Given the description of an element on the screen output the (x, y) to click on. 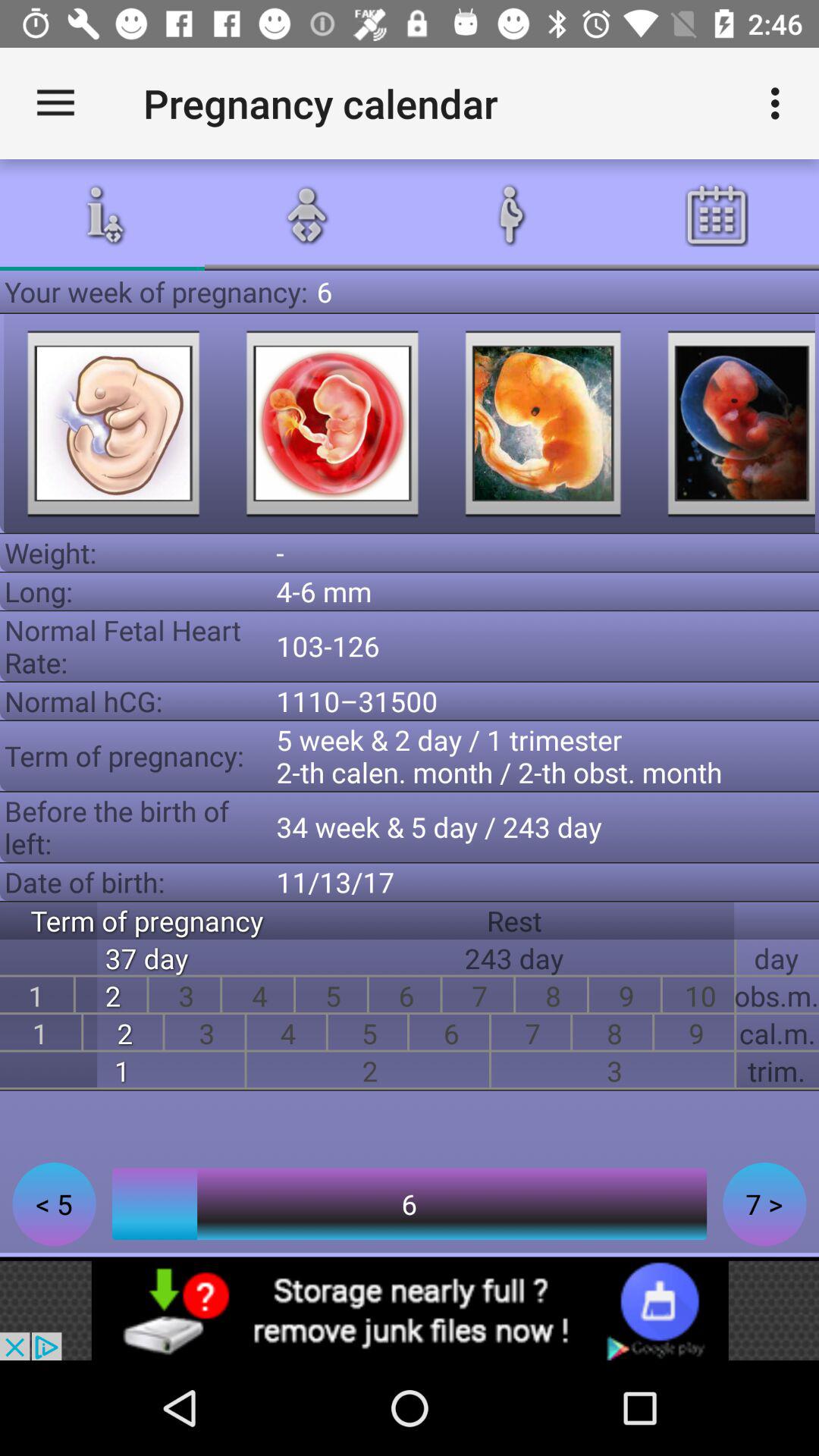
scan page (331, 422)
